Given the description of an element on the screen output the (x, y) to click on. 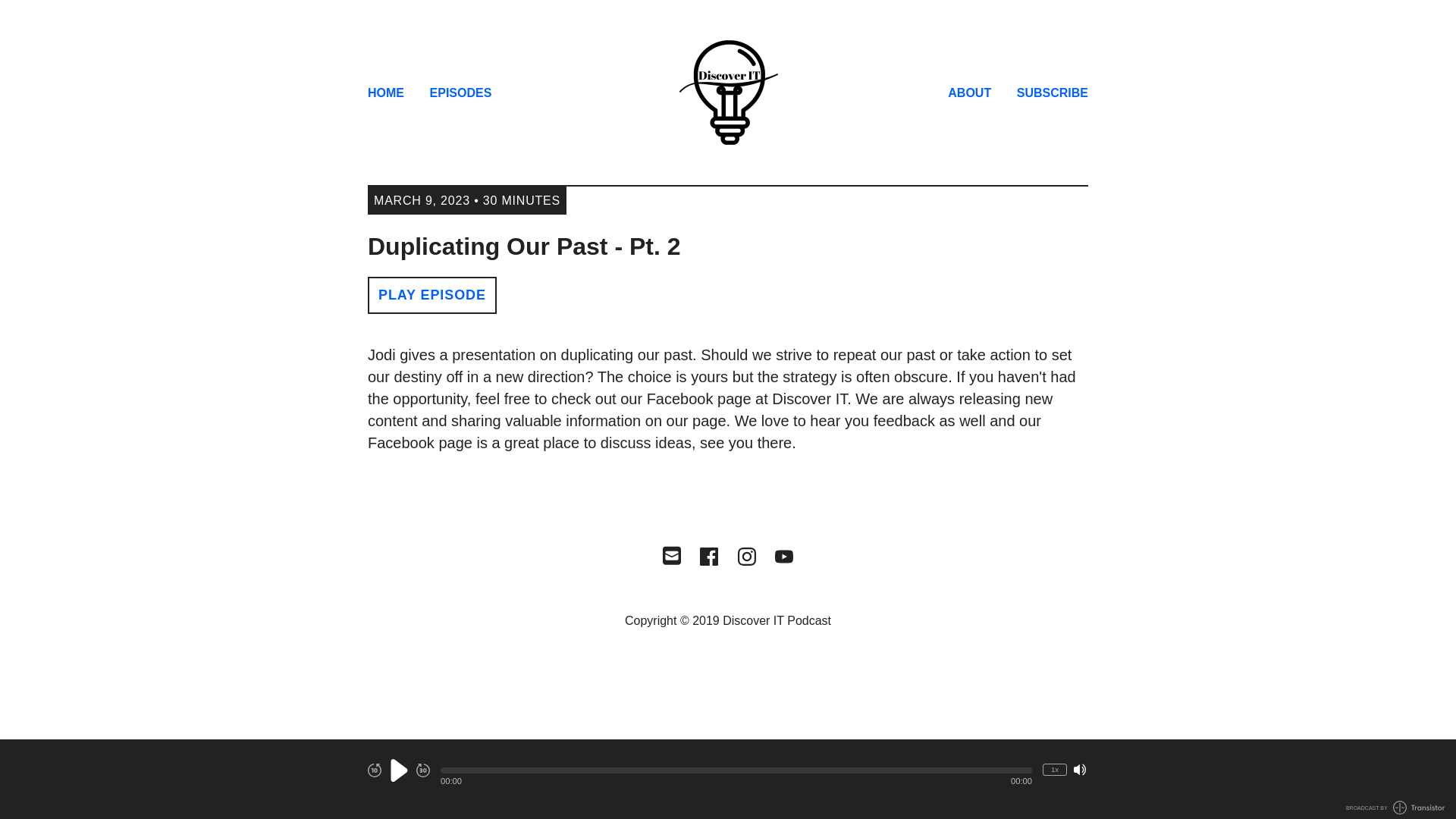
Home (727, 92)
Play Episode (432, 294)
Email (671, 554)
Episodes (460, 93)
Facebook (708, 556)
YouTube (783, 556)
About (969, 93)
EPISODES (460, 93)
Home (386, 93)
Instagram (746, 556)
Subscribe (1051, 93)
View Discover IT on Instagram (746, 556)
Instagram (746, 556)
ABOUT (969, 93)
View Discover IT on Youtube (783, 556)
